Given the description of an element on the screen output the (x, y) to click on. 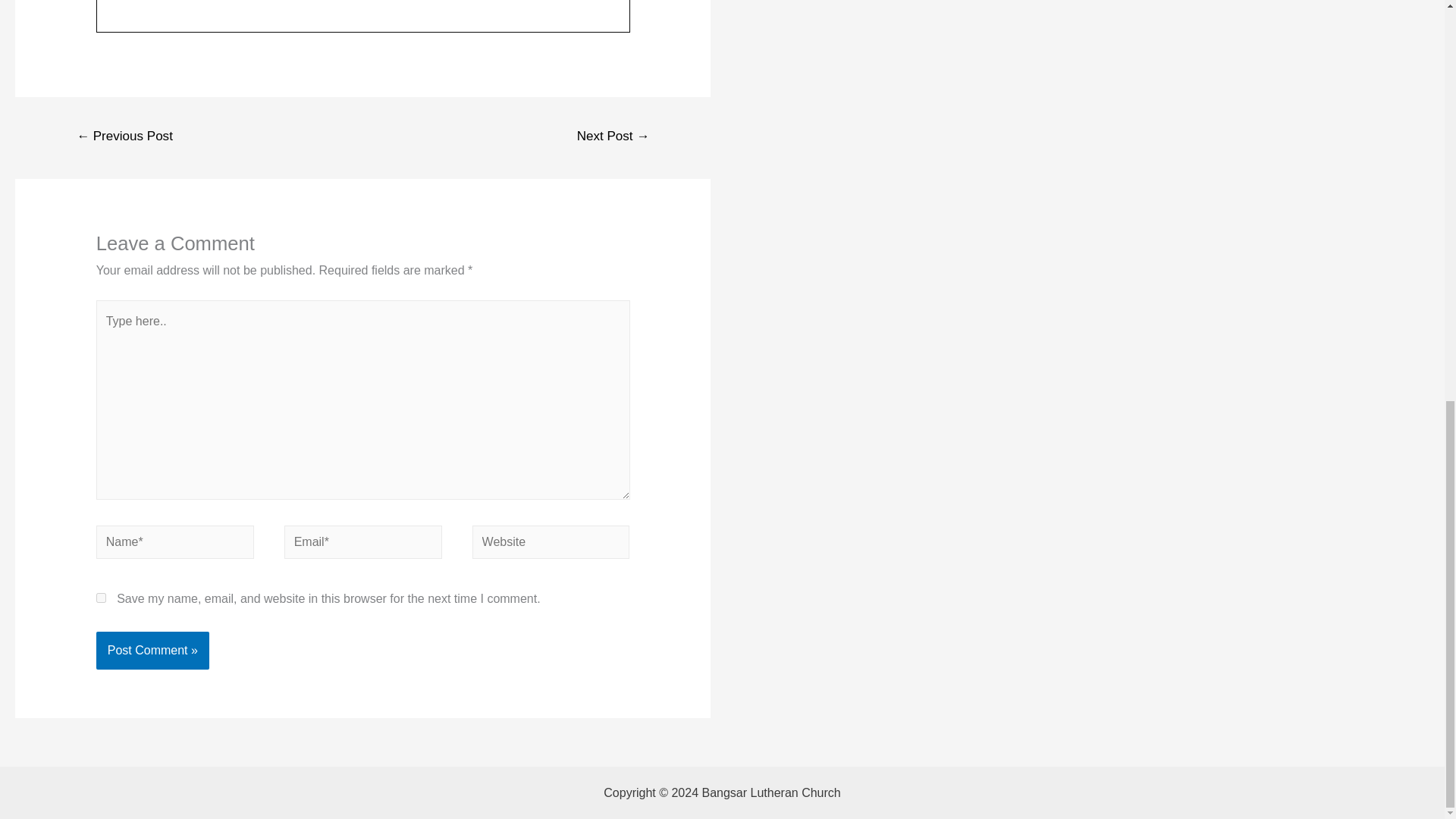
yes (101, 597)
